Given the description of an element on the screen output the (x, y) to click on. 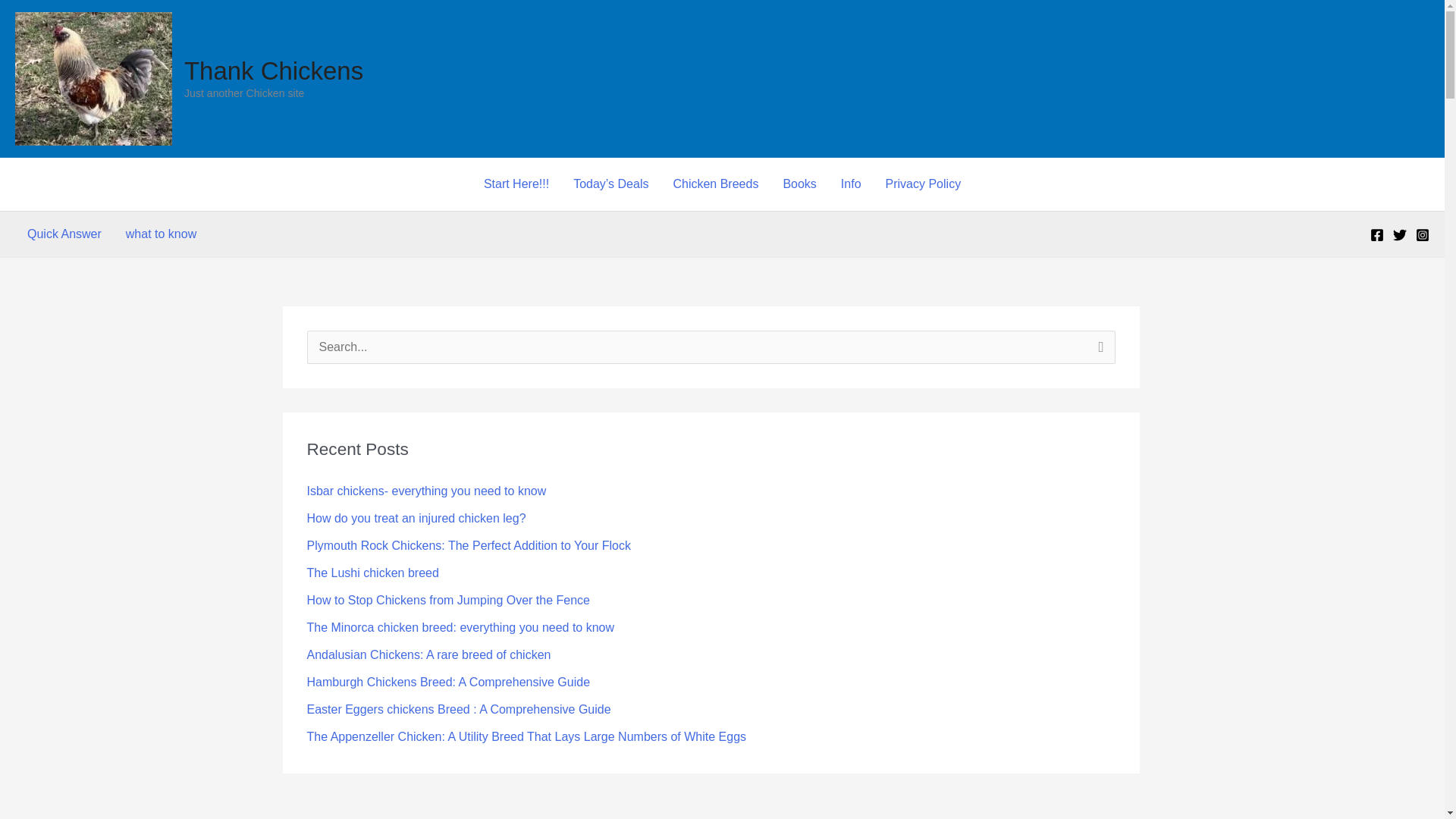
The Minorca chicken breed: everything you need to know (459, 626)
Privacy Policy (923, 184)
Isbar chickens- everything you need to know (425, 490)
Books (799, 184)
what to know (160, 234)
How to Stop Chickens from Jumping Over the Fence (447, 599)
Start Here!!! (515, 184)
Quick Answer (63, 234)
Easter Eggers chickens Breed : A Comprehensive Guide (457, 708)
